Given the description of an element on the screen output the (x, y) to click on. 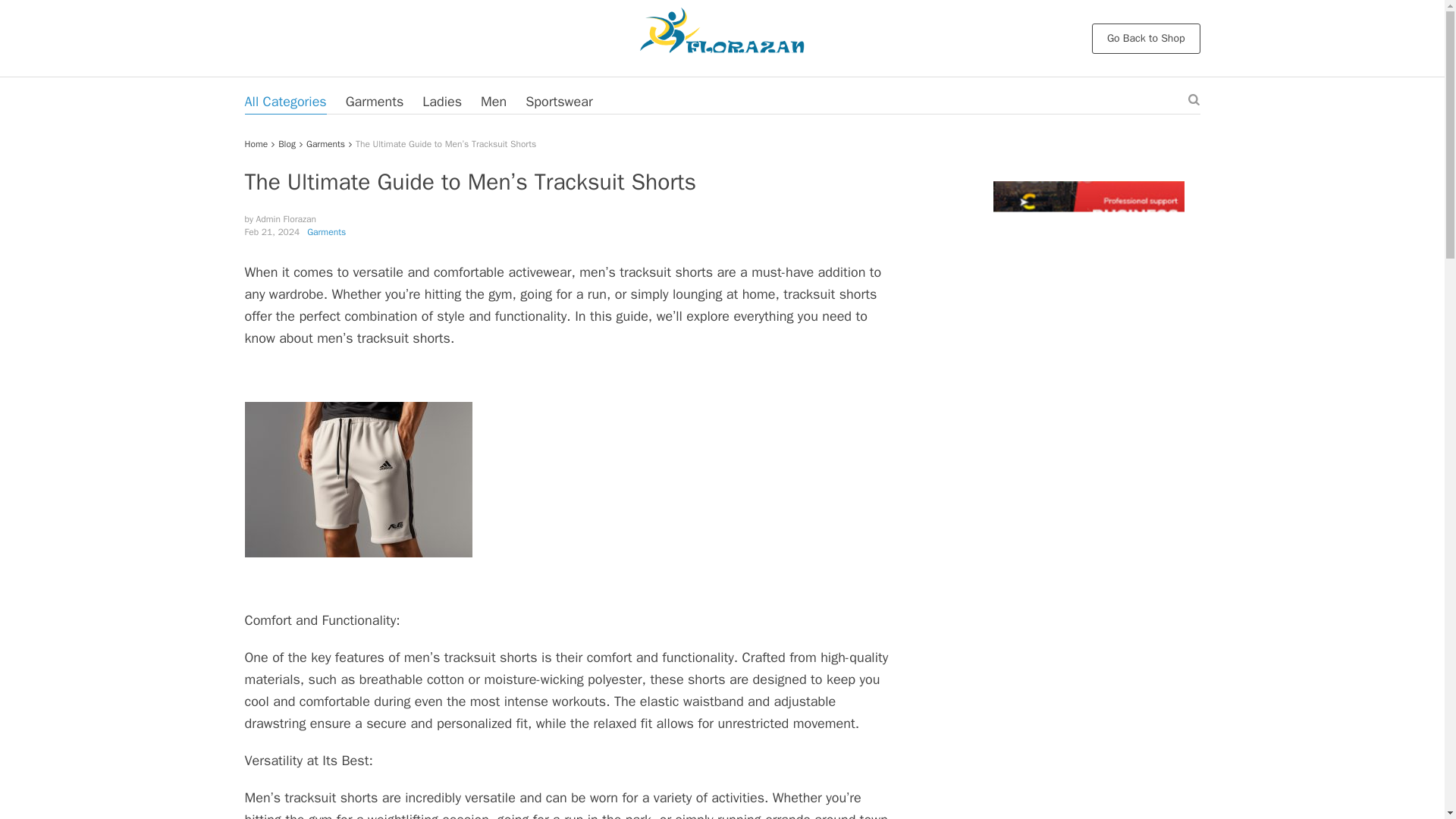
Blog (286, 143)
Garments (375, 101)
Garments (325, 143)
All Categories (285, 101)
Men (493, 101)
Ladies (441, 101)
Garments (326, 232)
Home (255, 143)
The Ultimate Guide to Men's Tracksuit Shorts (357, 479)
Sportswear (558, 101)
